Given the description of an element on the screen output the (x, y) to click on. 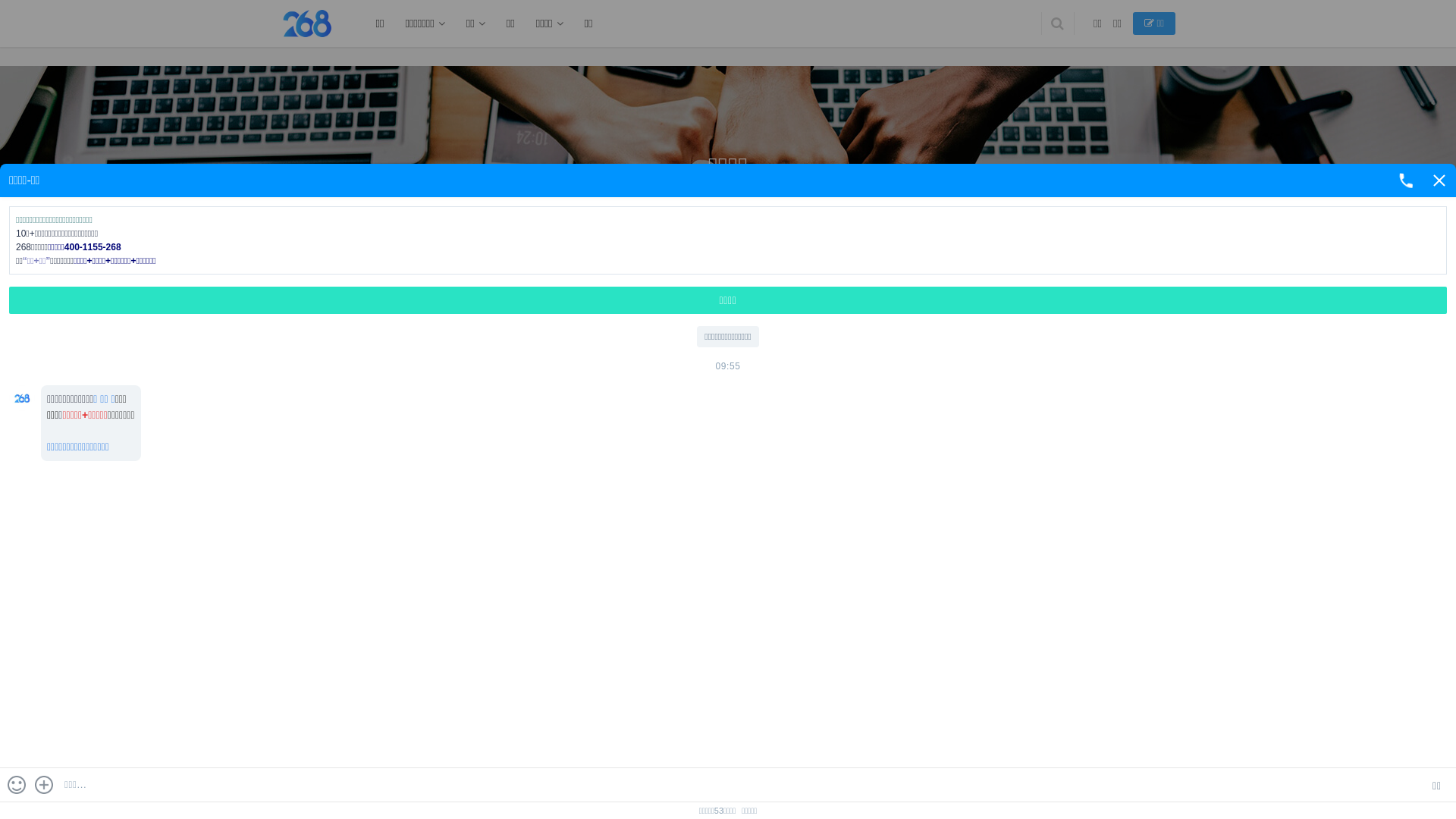
0 Element type: text (655, 721)
0 Element type: text (655, 427)
0 Element type: text (655, 574)
